Given the description of an element on the screen output the (x, y) to click on. 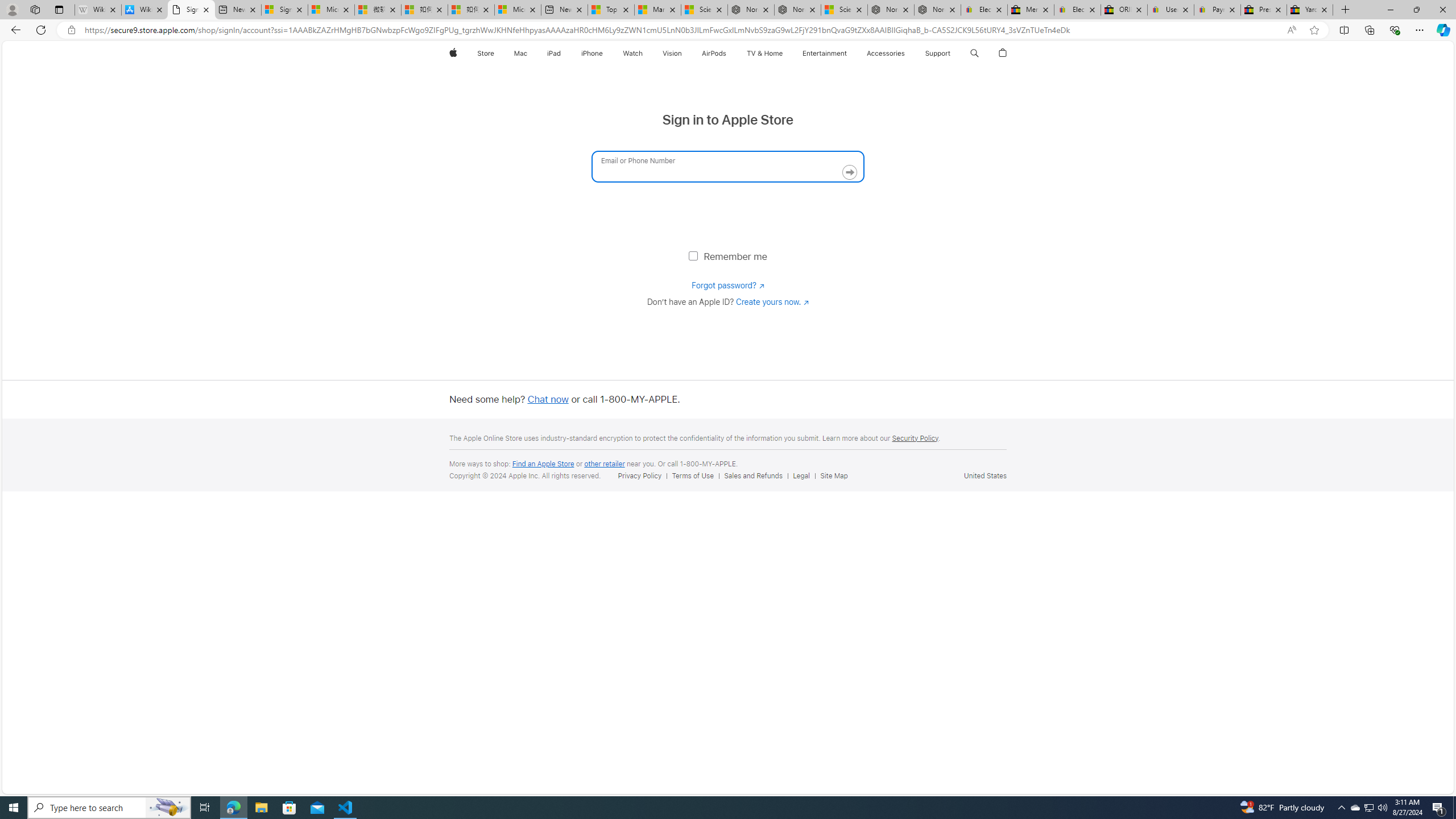
Store (486, 53)
Apple (452, 53)
TV and Home (764, 53)
